Given the description of an element on the screen output the (x, y) to click on. 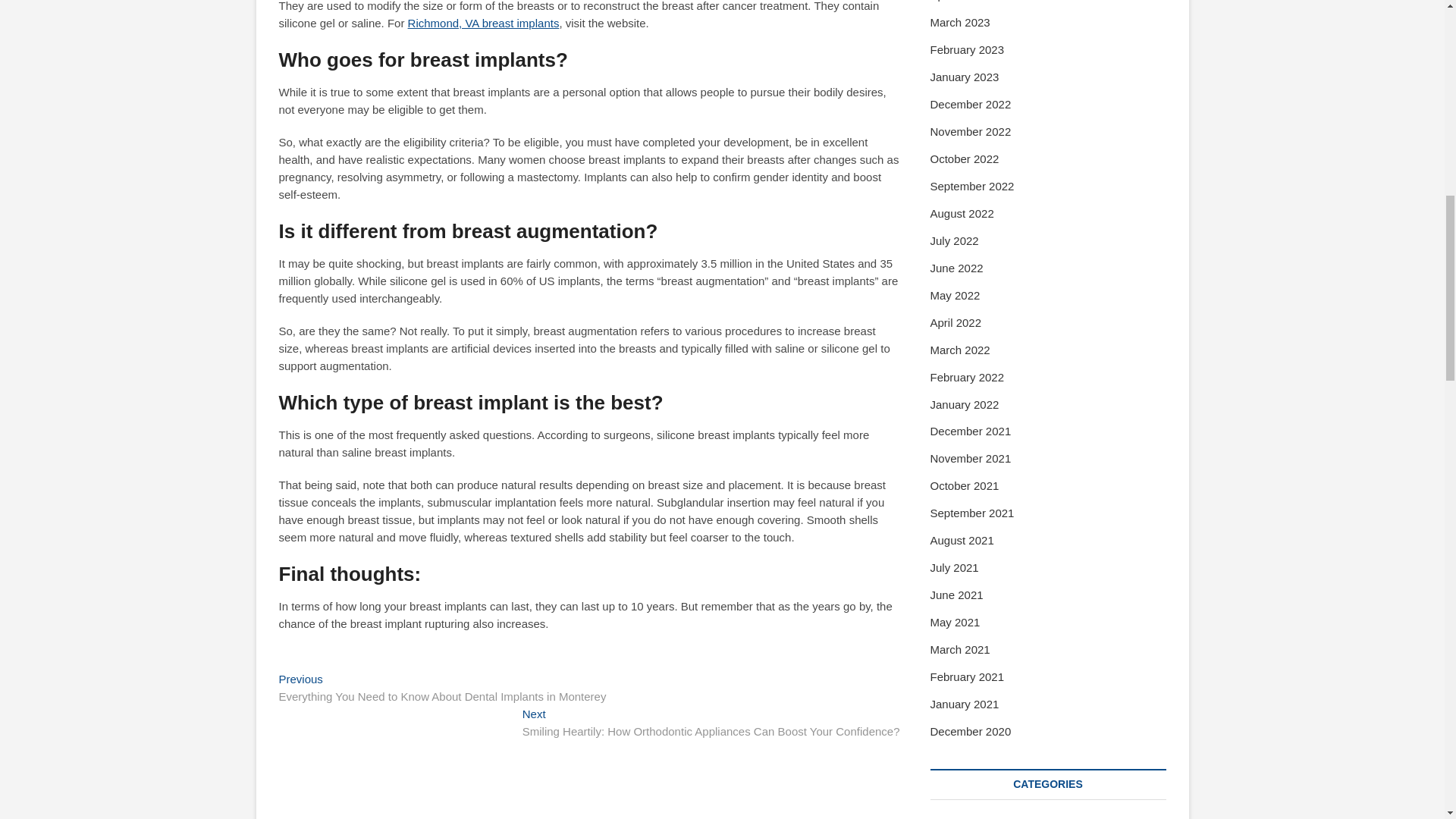
February 2023 (967, 49)
March 2023 (960, 21)
Richmond, VA breast implants (483, 22)
April 2023 (955, 0)
